Given the description of an element on the screen output the (x, y) to click on. 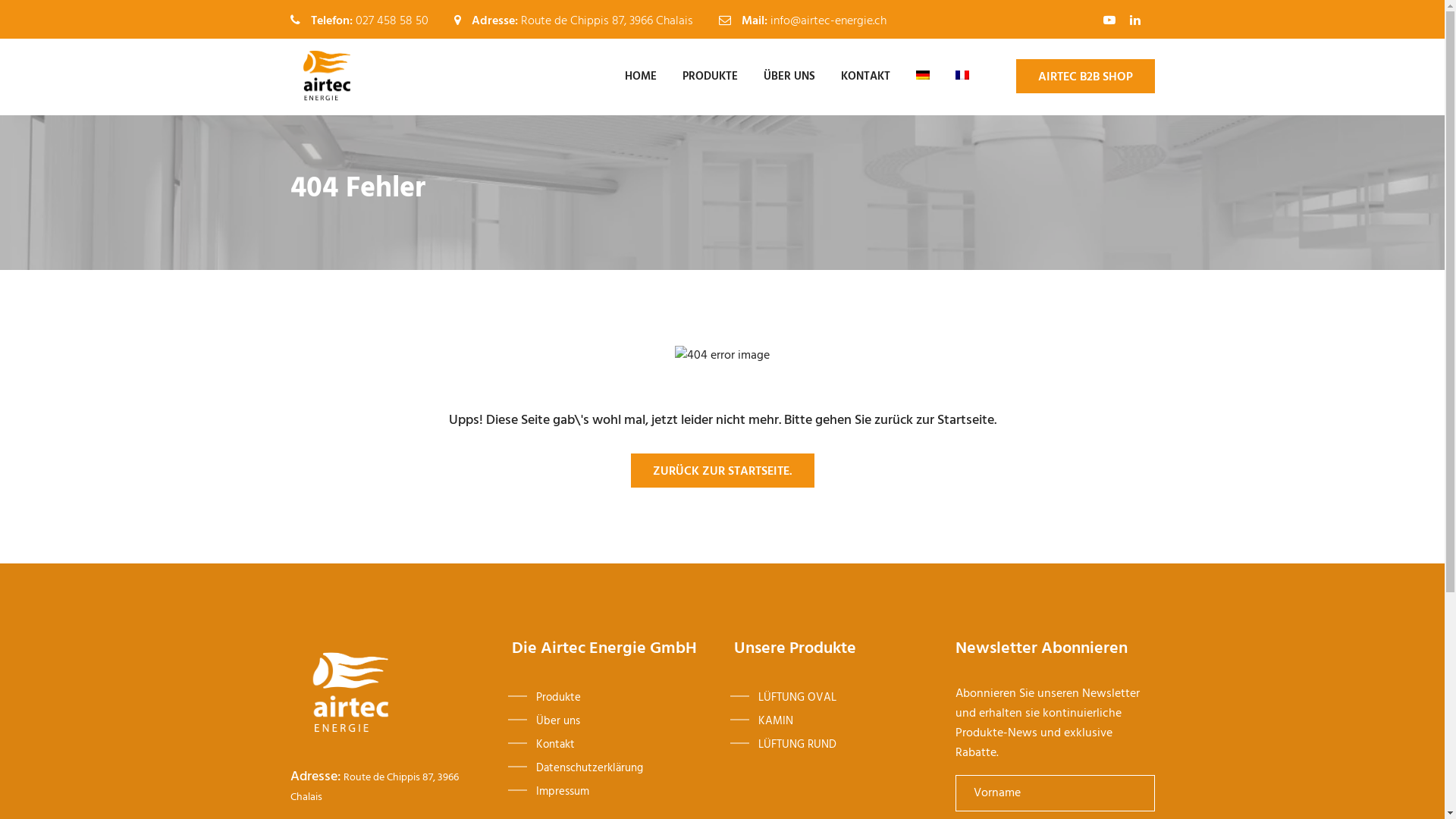
HOME Element type: text (639, 76)
Produkte Element type: text (626, 695)
KAMIN Element type: text (848, 719)
AIRTEC B2B SHOP Element type: text (1085, 76)
027 458 58 50 Element type: text (390, 21)
KONTAKT Element type: text (865, 76)
info@airtec-energie.ch Element type: text (828, 21)
Kontakt Element type: text (626, 742)
PRODUKTE Element type: text (709, 76)
Impressum Element type: text (626, 789)
